Given the description of an element on the screen output the (x, y) to click on. 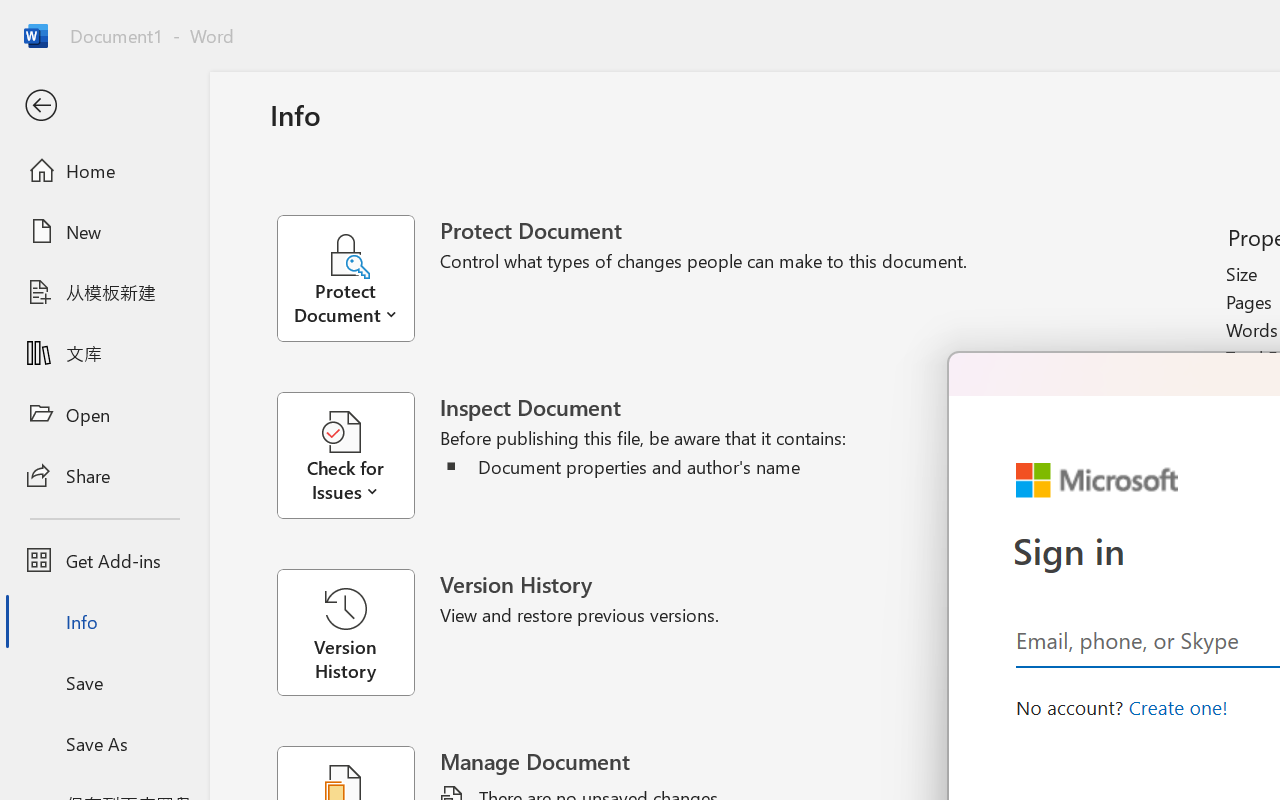
Protect Document (358, 278)
Check for Issues (358, 455)
Version History (345, 632)
Info (104, 621)
New (104, 231)
Save As (104, 743)
Back (104, 106)
